Given the description of an element on the screen output the (x, y) to click on. 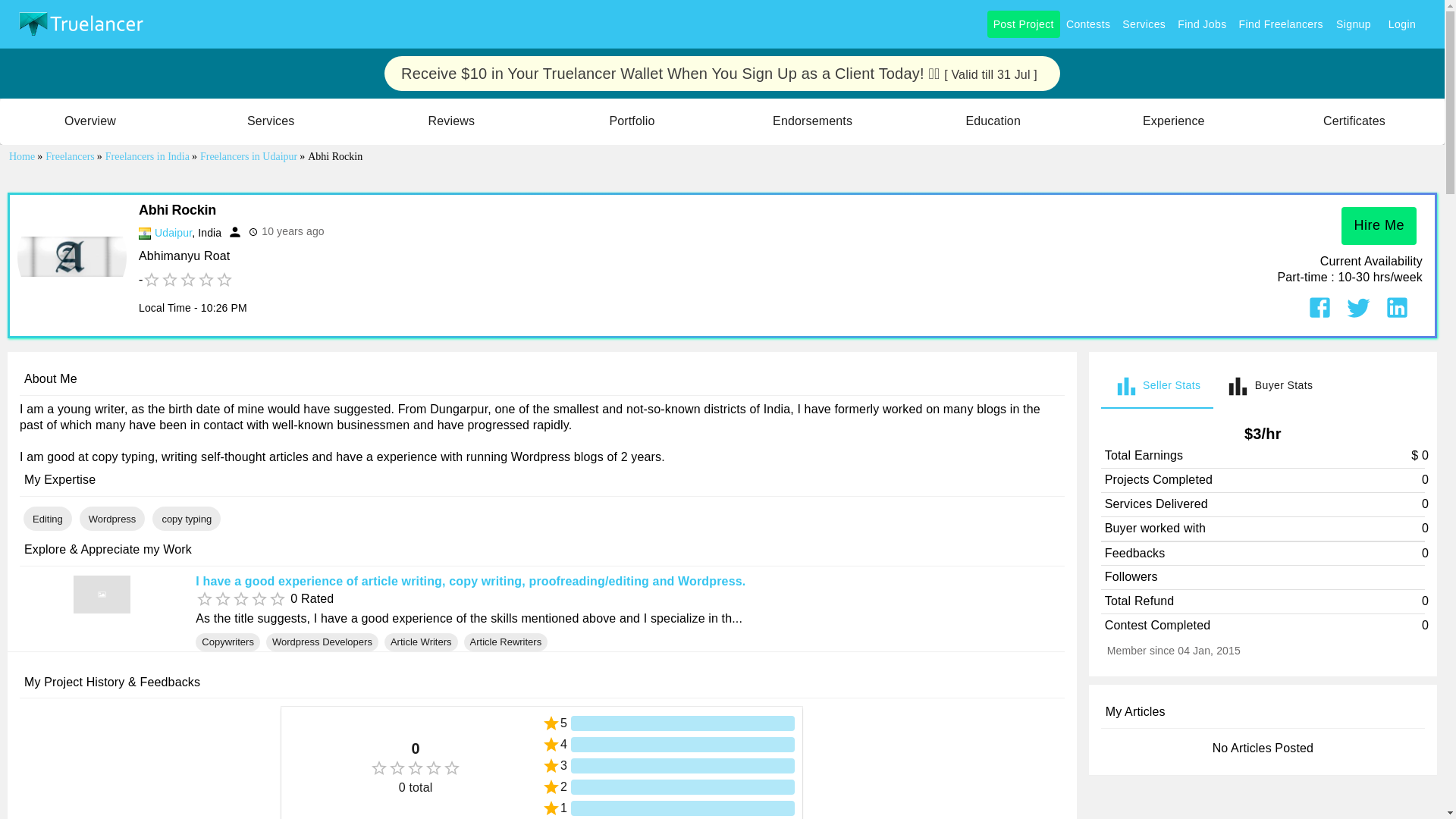
Freelancers (71, 156)
Freelancers in Udaipur (249, 156)
Wordpress (112, 518)
Signup (1353, 24)
Hire Me (1378, 225)
Services (1262, 385)
Seller Stats (1144, 24)
Freelancers in India (1156, 385)
Home (148, 156)
Editing (22, 156)
copy typing (47, 518)
Find Freelancers (186, 518)
Buyer Stats (1281, 24)
Login (1268, 385)
